Given the description of an element on the screen output the (x, y) to click on. 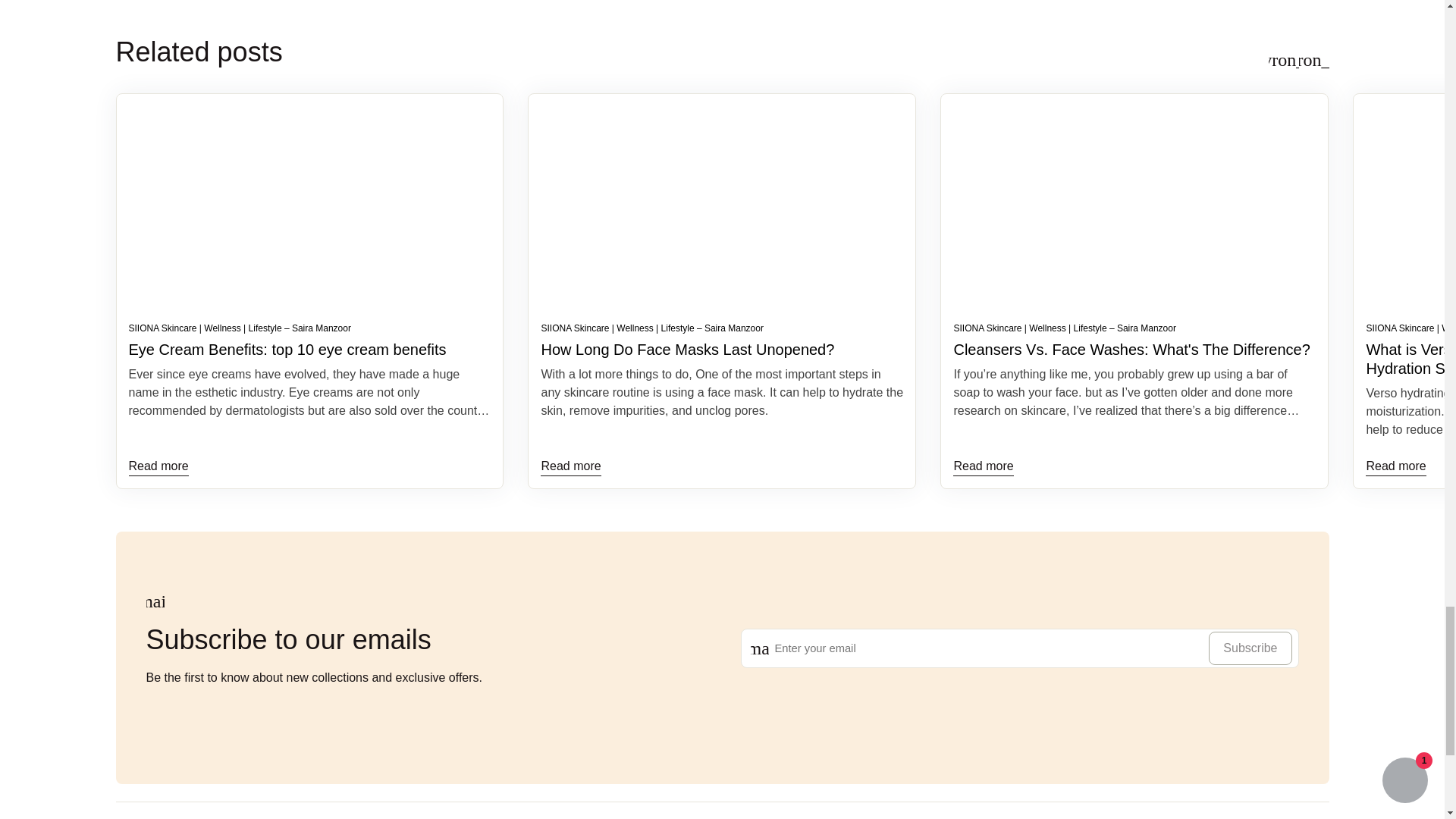
Subscribe (1249, 648)
